Given the description of an element on the screen output the (x, y) to click on. 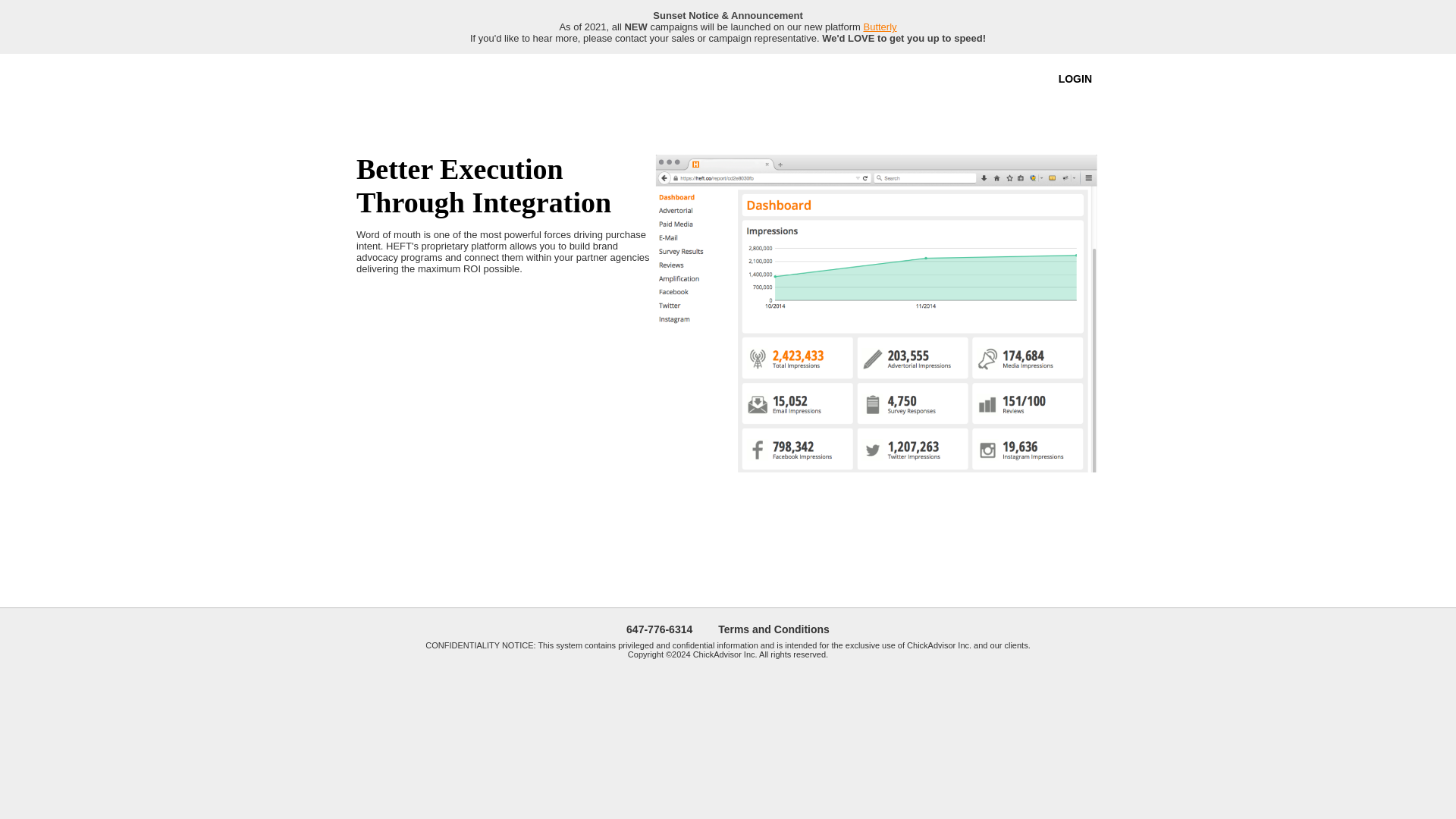
Butterly (879, 26)
LOGIN (1075, 78)
Terms and Conditions (773, 629)
